Given the description of an element on the screen output the (x, y) to click on. 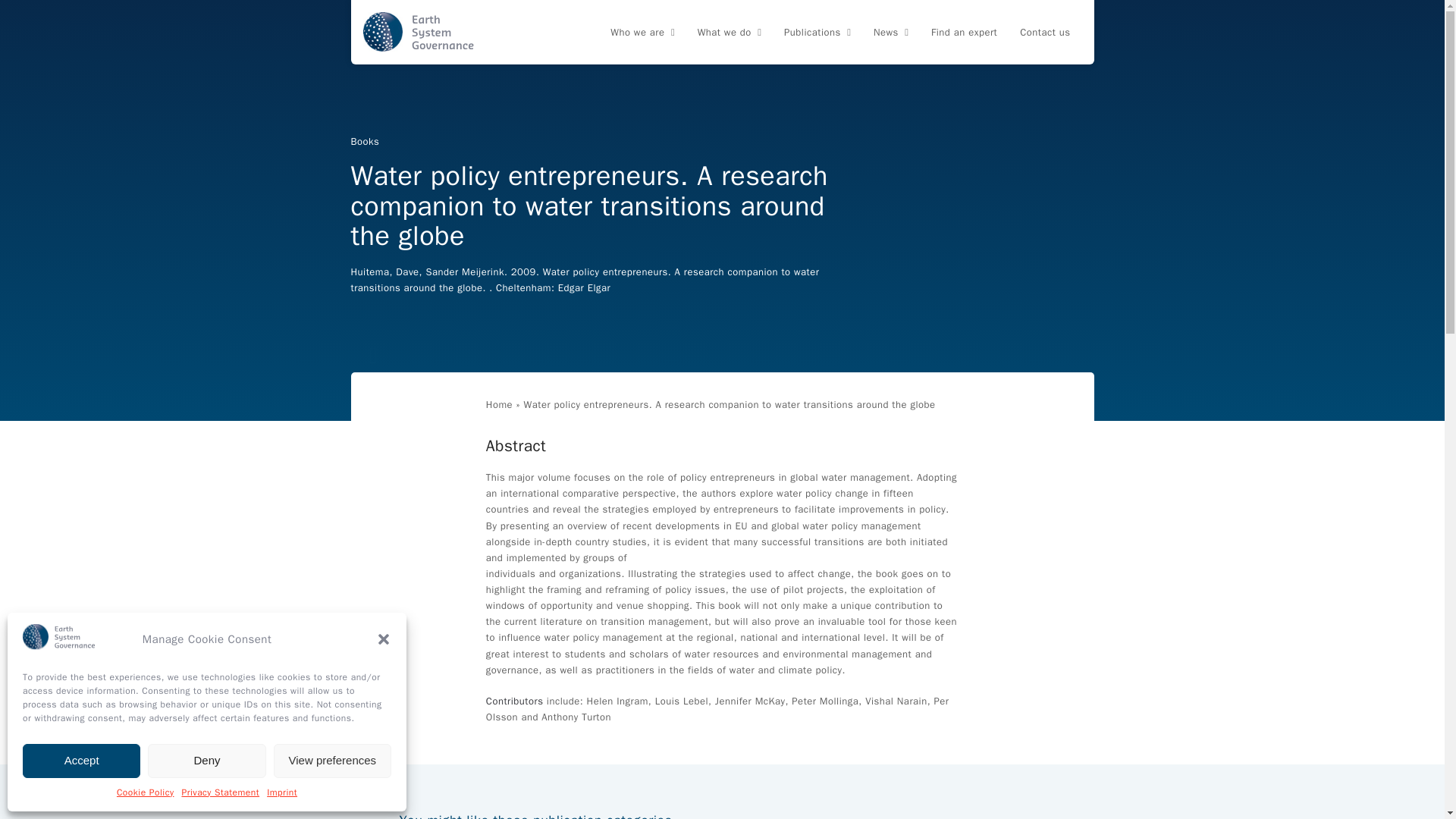
View preferences (332, 759)
Who we are (641, 32)
Deny (206, 759)
Imprint (281, 792)
What we do (729, 32)
Privacy Statement (219, 792)
Cookie Policy (145, 792)
Accept (81, 759)
